Given the description of an element on the screen output the (x, y) to click on. 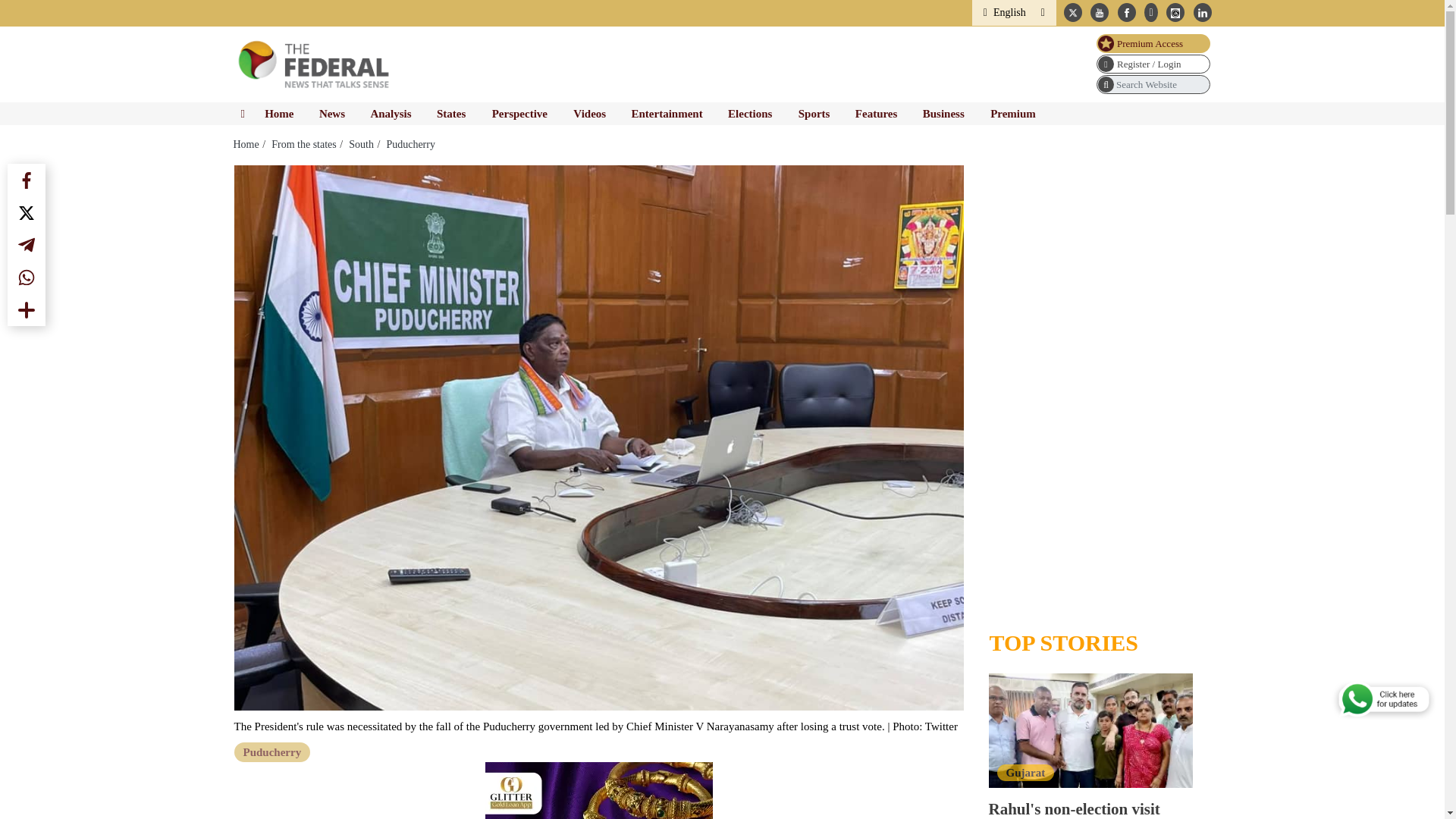
The Federal (314, 64)
Premium Access (1152, 43)
